Given the description of an element on the screen output the (x, y) to click on. 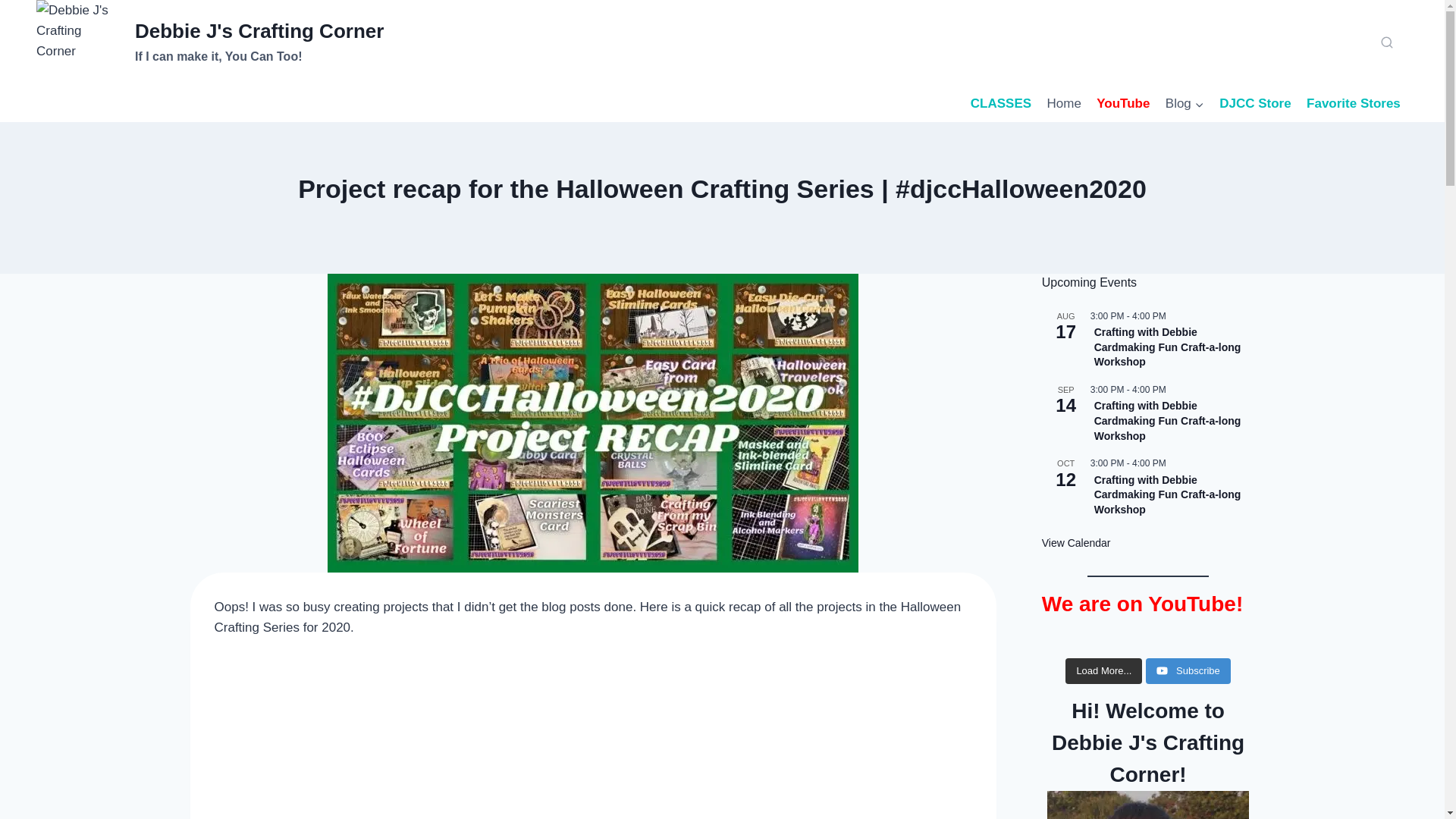
DJCC Store (210, 42)
Home (1254, 103)
CLASSES (1064, 103)
View more events. (1000, 103)
Crafting with Debbie Cardmaking Fun Craft-a-long Workshop (1076, 543)
Blog (1167, 346)
YouTube (1184, 103)
Favorite Stores (1123, 103)
Crafting with Debbie Cardmaking Fun Craft-a-long Workshop (1352, 103)
Crafting with Debbie Cardmaking Fun Craft-a-long Workshop (1167, 420)
